Given the description of an element on the screen output the (x, y) to click on. 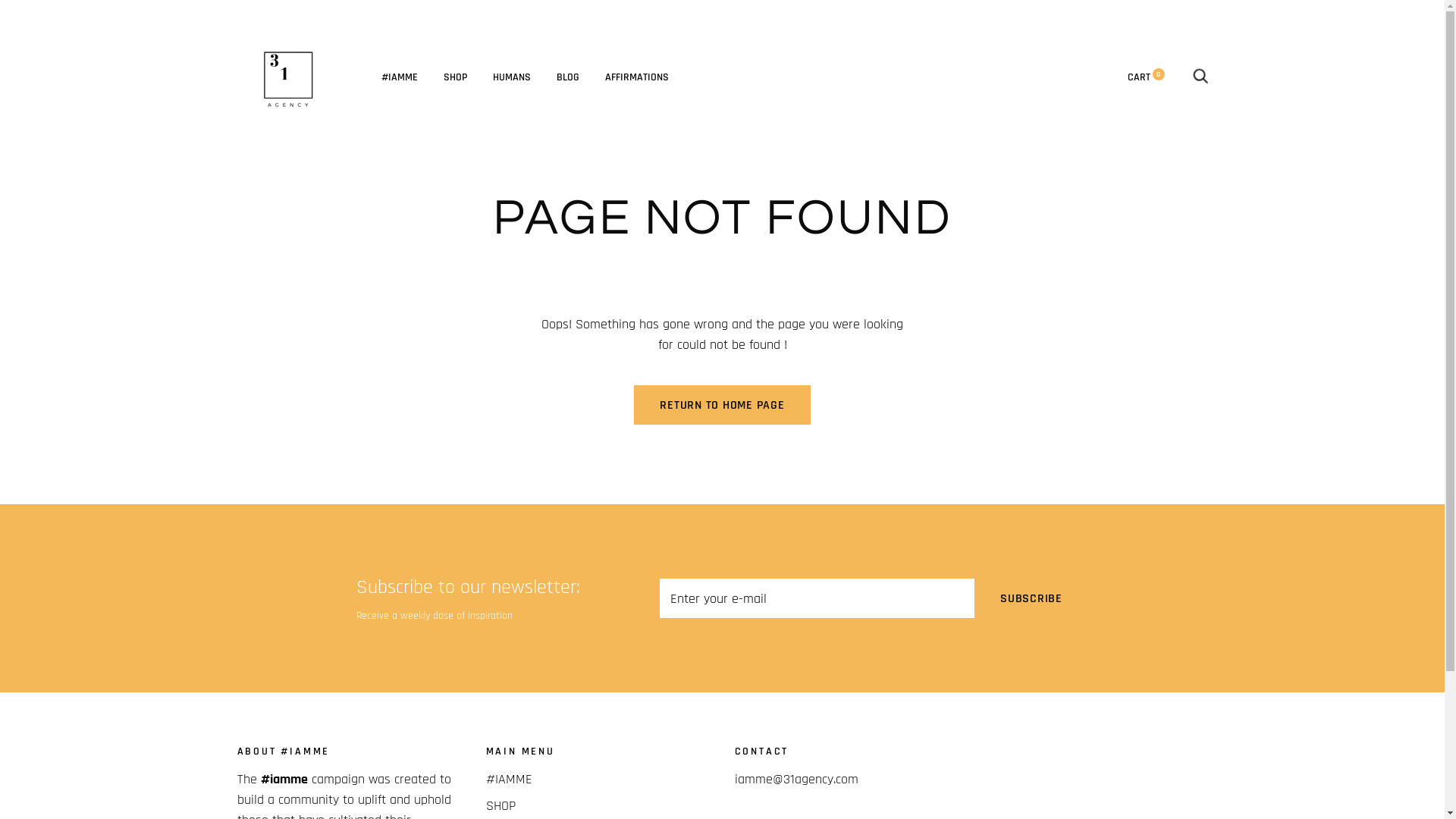
SHOP Element type: text (499, 805)
HUMANS Element type: text (511, 77)
BLOG Element type: text (567, 77)
RETURN TO HOME PAGE Element type: text (721, 404)
Subscribe Element type: text (1031, 598)
AFFIRMATIONS Element type: text (636, 77)
SHOP Element type: text (454, 77)
#IAMME Element type: text (508, 778)
iamme@31agency.com Element type: text (795, 778)
#IAMME Element type: text (398, 77)
CART 0 Element type: text (1145, 77)
